Given the description of an element on the screen output the (x, y) to click on. 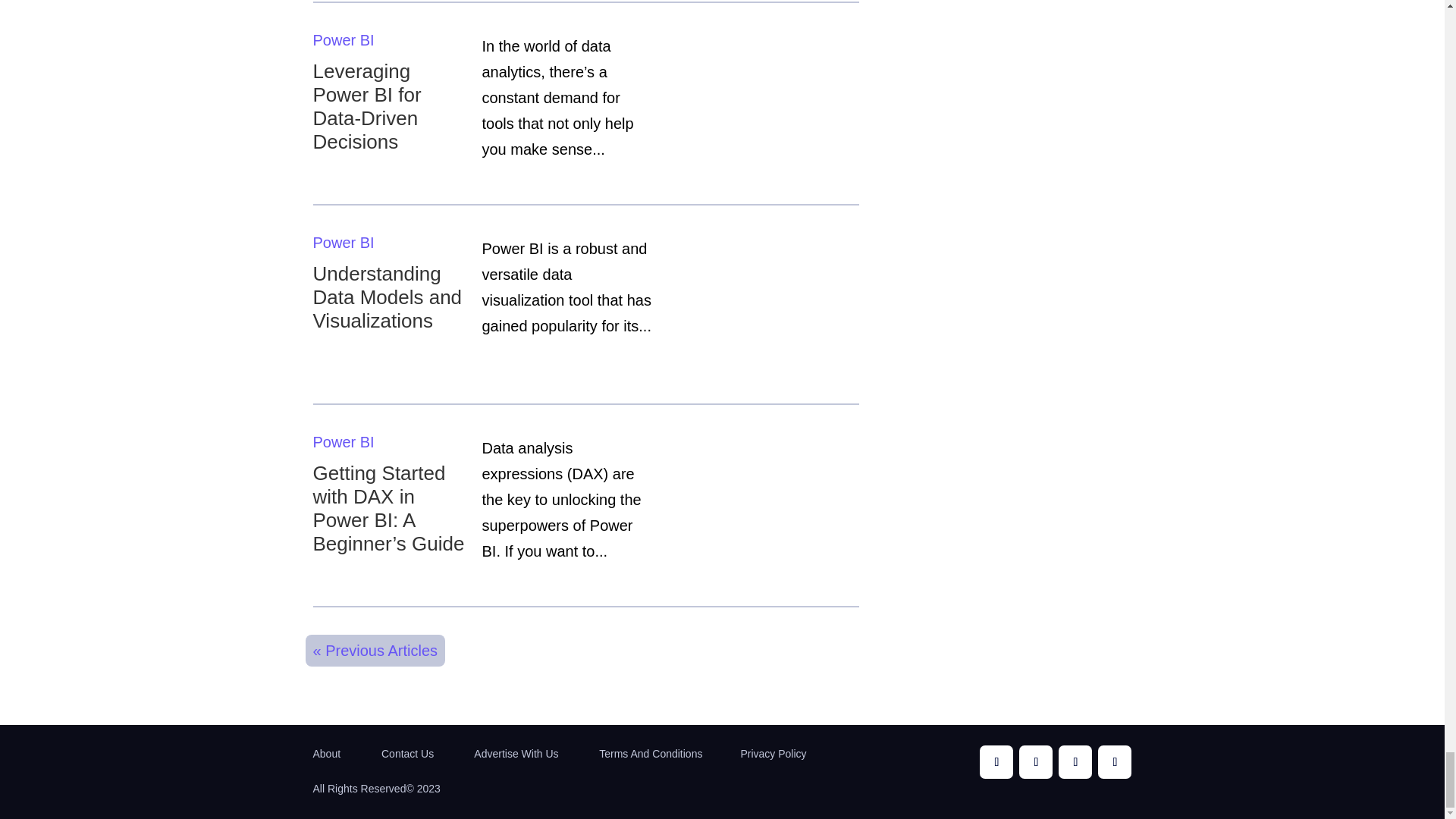
Follow on X (1075, 761)
Follow on LinkedIn (1114, 761)
Follow on Facebook (996, 761)
Follow on Youtube (1035, 761)
